Given the description of an element on the screen output the (x, y) to click on. 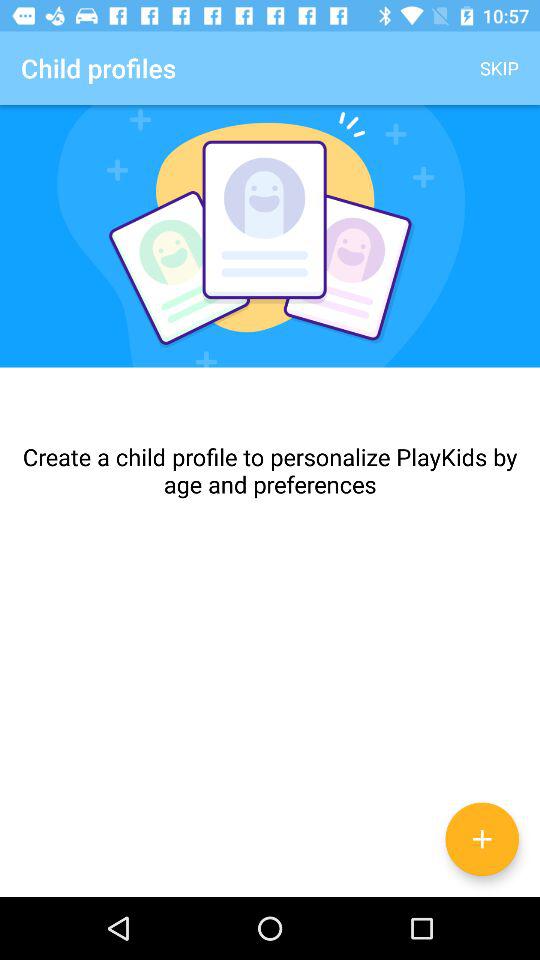
select item at the bottom right corner (482, 839)
